Given the description of an element on the screen output the (x, y) to click on. 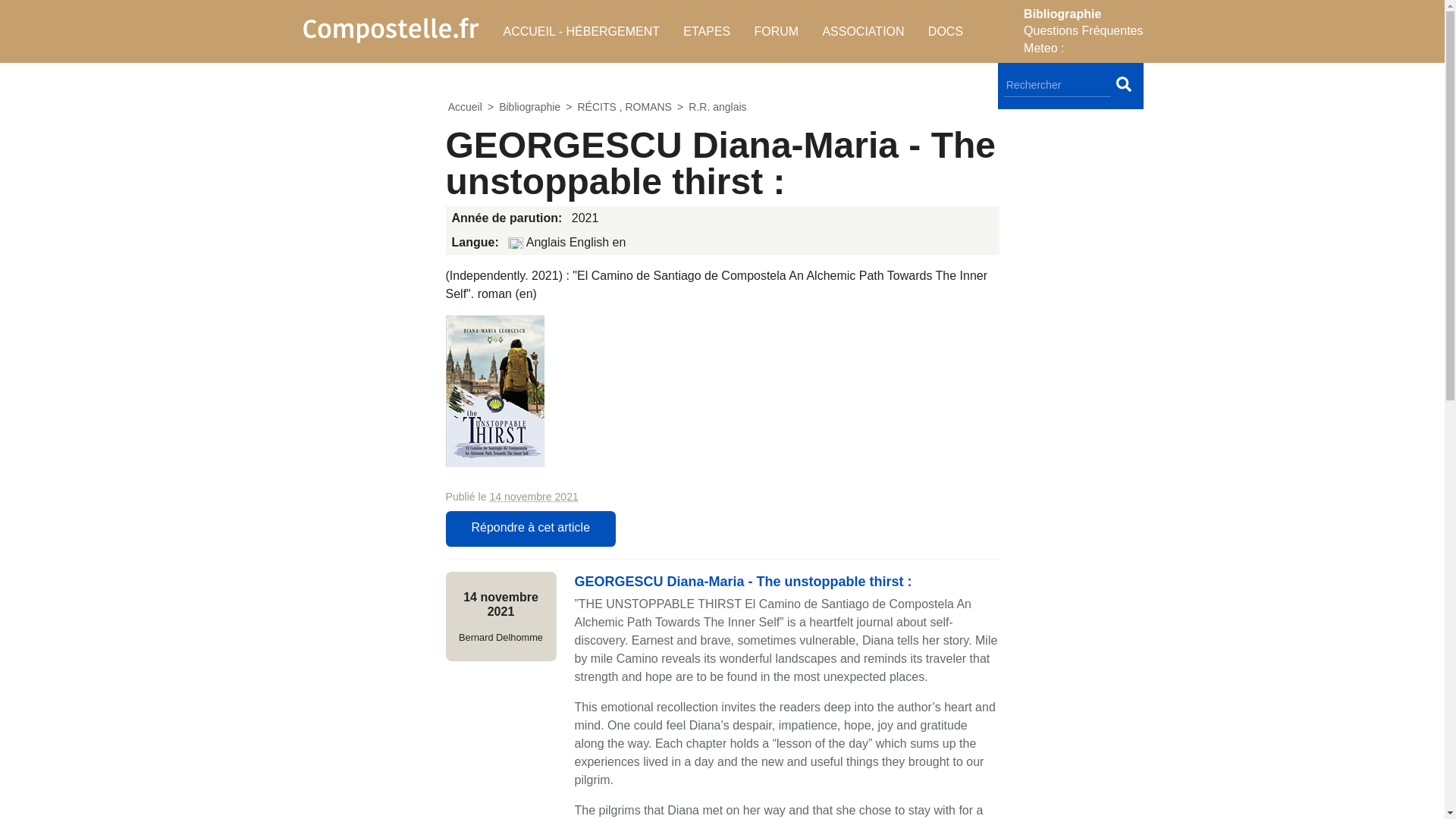
Meteo : (1043, 47)
GEORGESCU Diana-Maria - The unstoppable thirst : (743, 581)
2021-11-14T10:36:39Z (533, 496)
ETAPES (706, 31)
DOCS (945, 31)
Lien permanent vers le commentaire 53516 (743, 581)
Accueil (464, 107)
Bibliographie (529, 107)
ASSOCIATION (863, 31)
2021-11-14T10:37:10Z (500, 604)
